Given the description of an element on the screen output the (x, y) to click on. 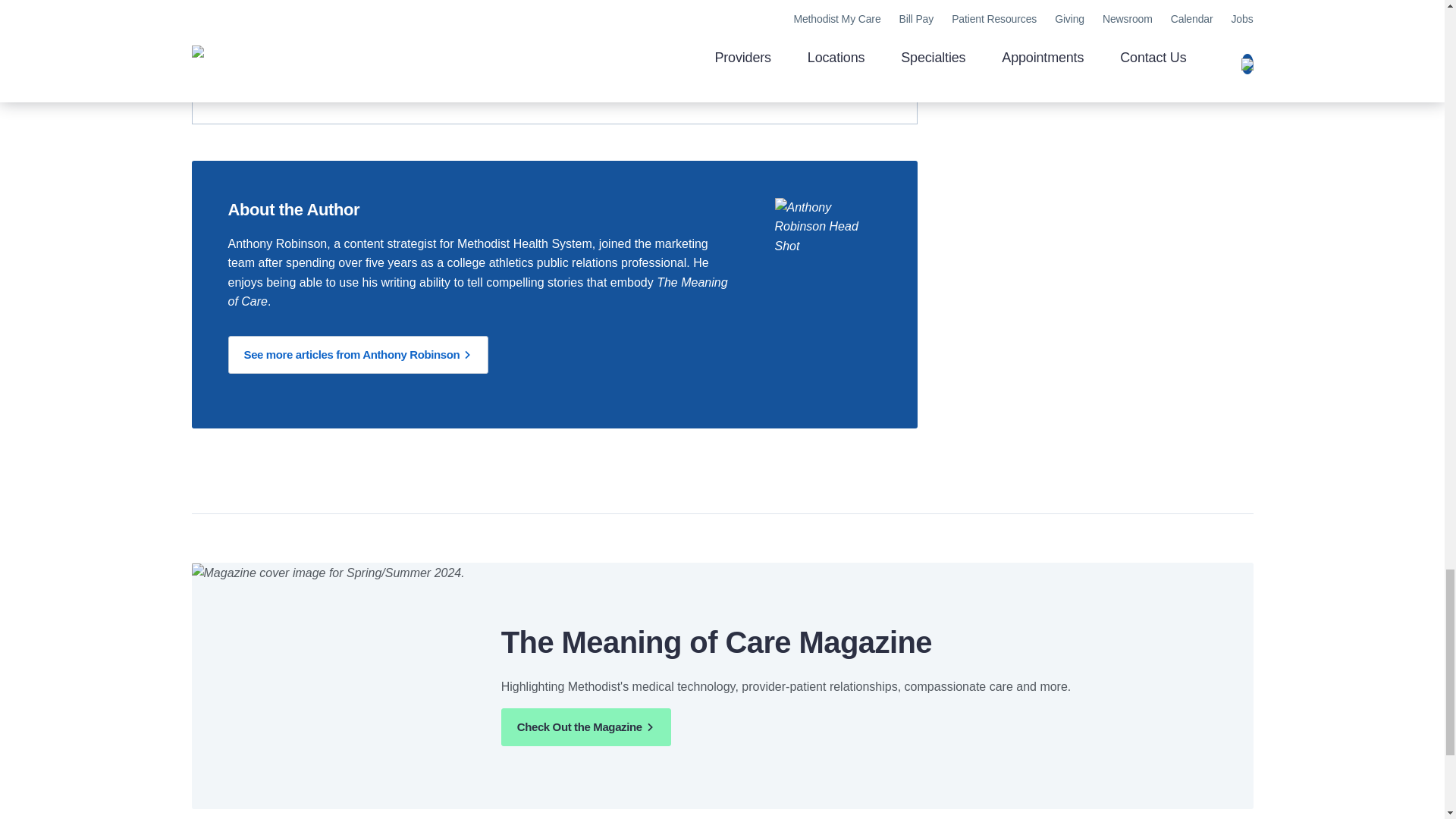
cancer care (416, 76)
Methodist Newsroom (493, 47)
inspiring stories (357, 47)
See more articles from Anthony Robinson (357, 354)
